Given the description of an element on the screen output the (x, y) to click on. 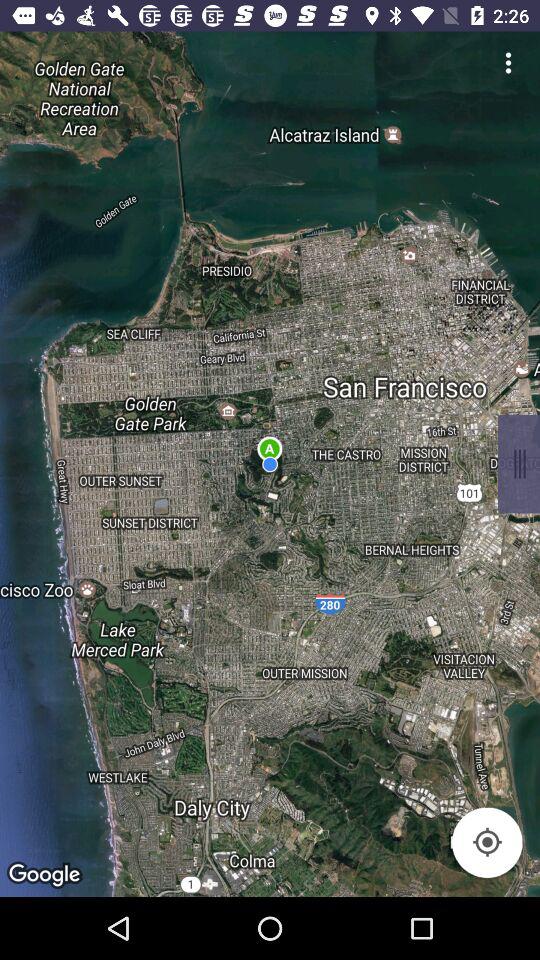
choose item on the right (518, 463)
